Given the description of an element on the screen output the (x, y) to click on. 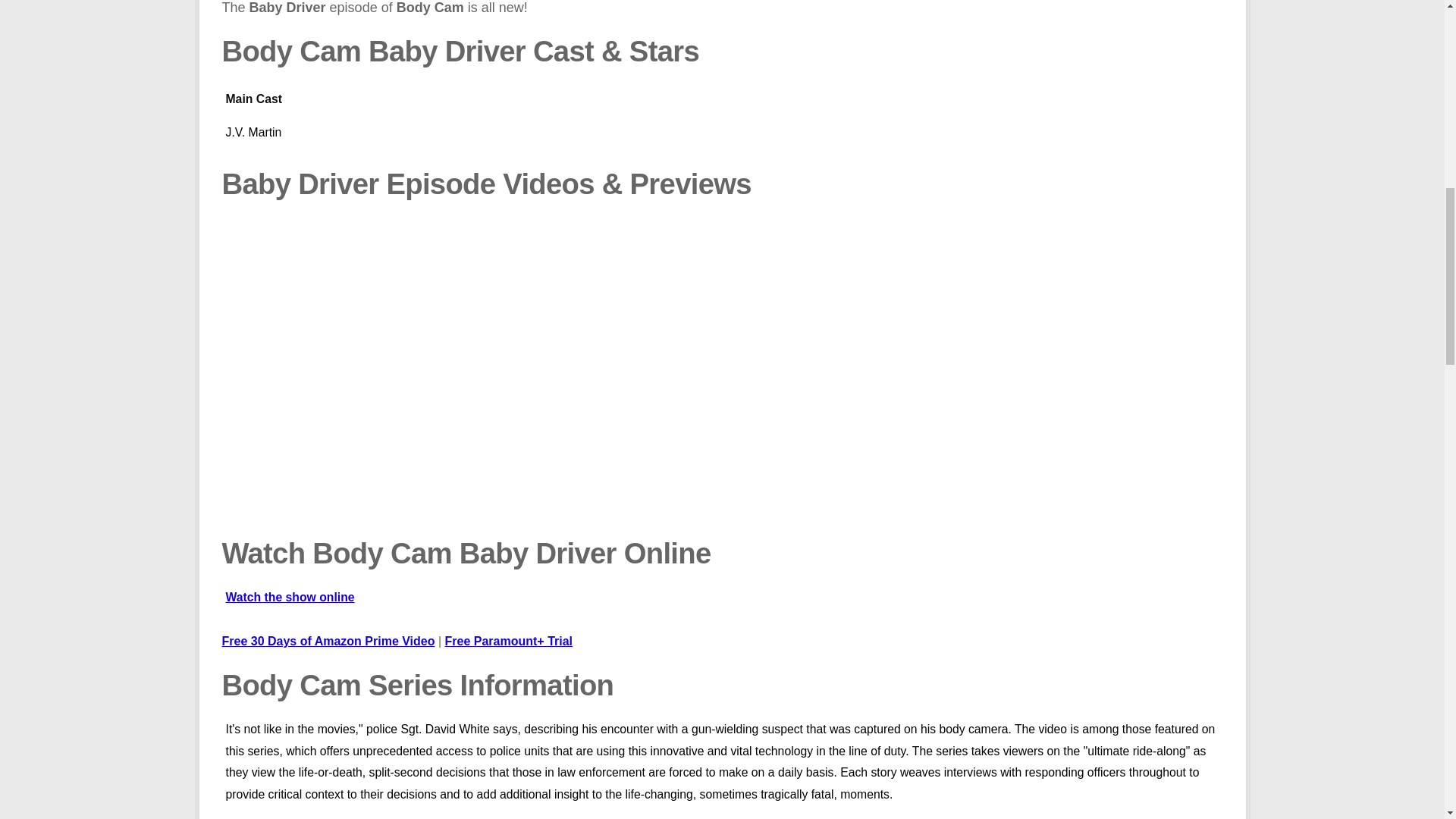
YouTube video player (437, 372)
Watch the show online (722, 606)
